Given the description of an element on the screen output the (x, y) to click on. 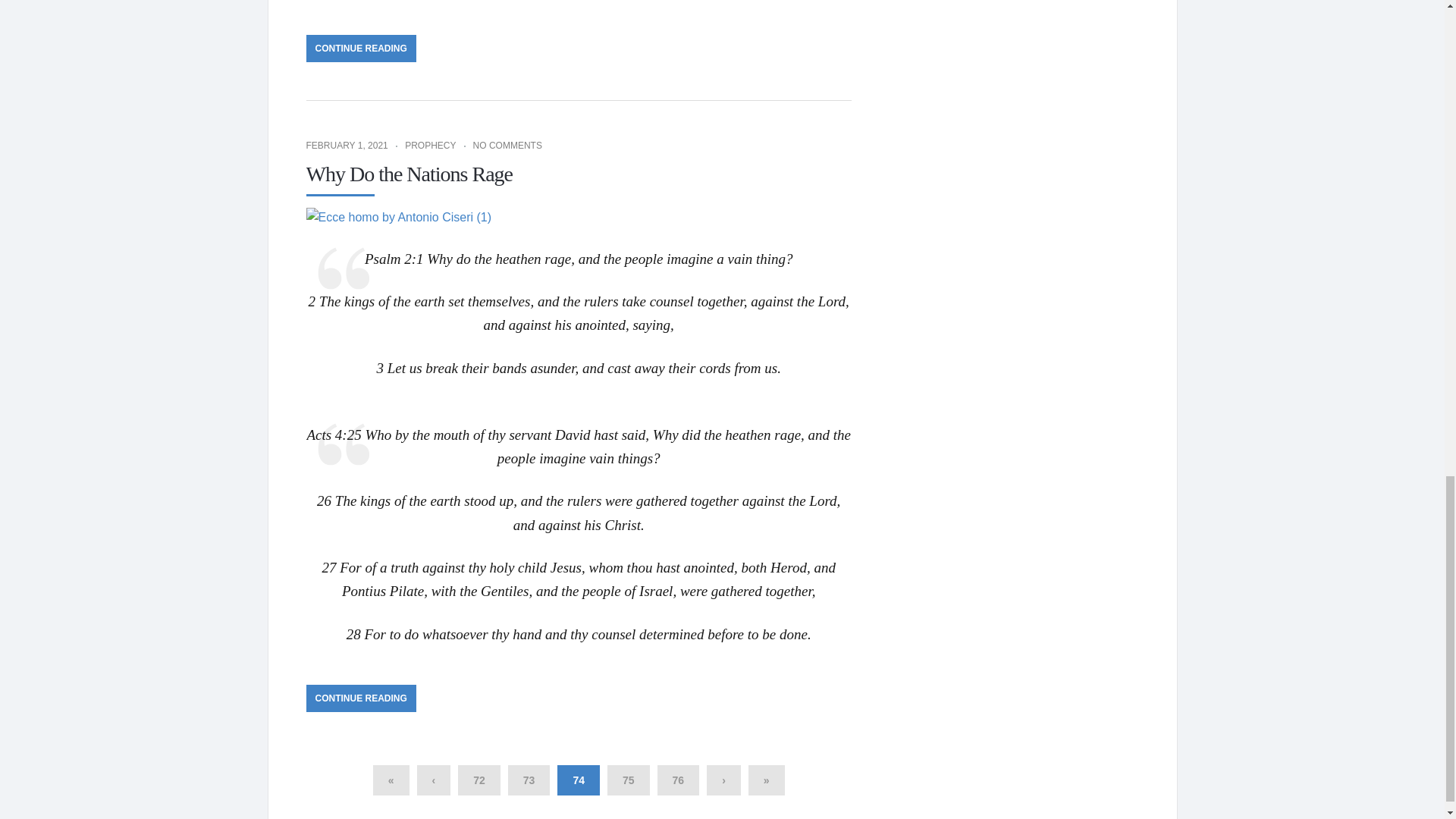
PROPHECY (429, 145)
Why Do the Nations Rage (409, 173)
73 (529, 779)
75 (628, 779)
76 (679, 779)
72 (479, 779)
NO COMMENTS (507, 145)
74 (578, 779)
Antonio Ciseri , Public domain, via Wikimedia Commons (398, 216)
CONTINUE READING (360, 48)
